Given the description of an element on the screen output the (x, y) to click on. 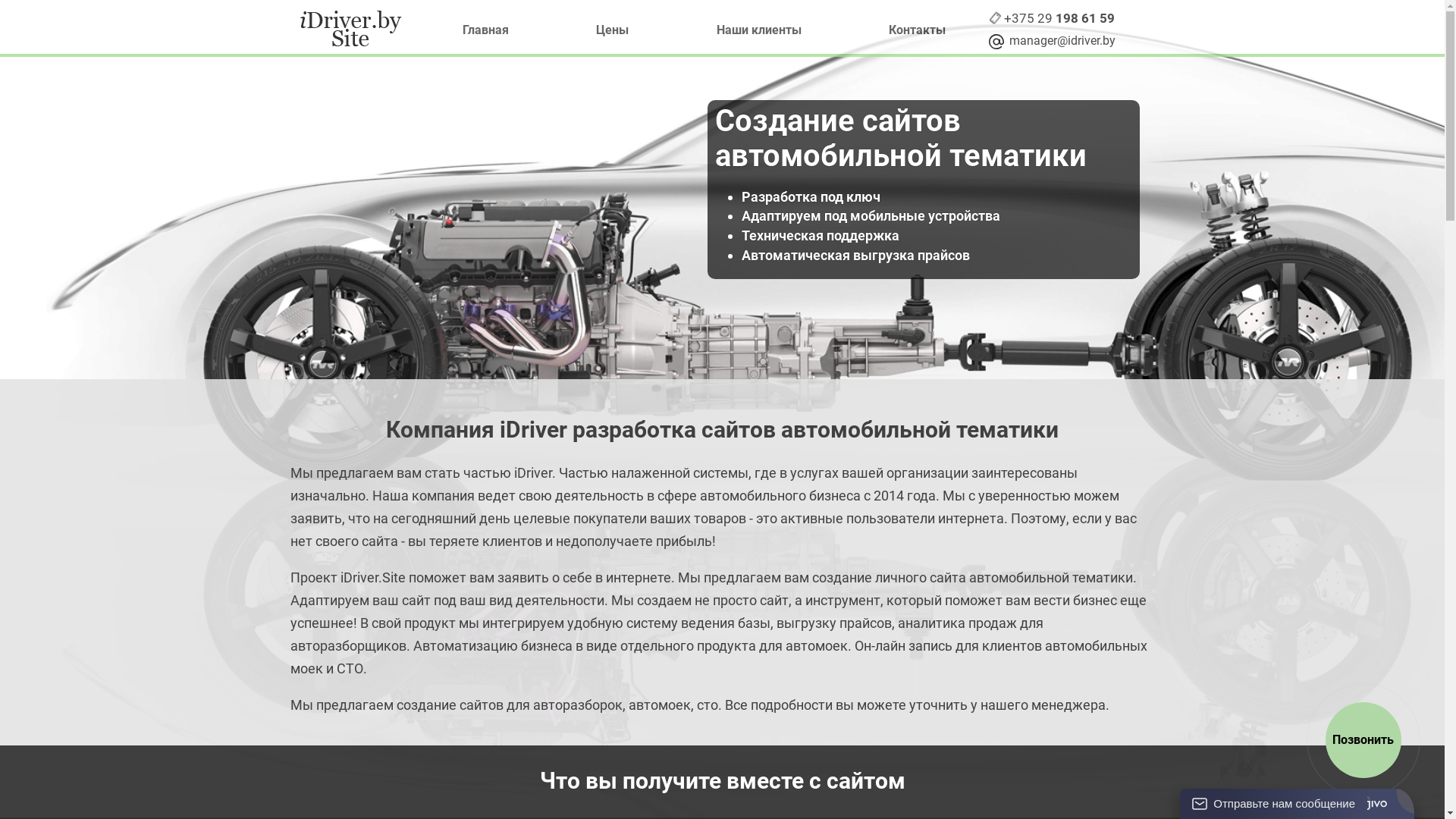
manager@idriver.by Element type: text (1059, 40)
+375 29 198 61 59 Element type: text (1059, 18)
